Given the description of an element on the screen output the (x, y) to click on. 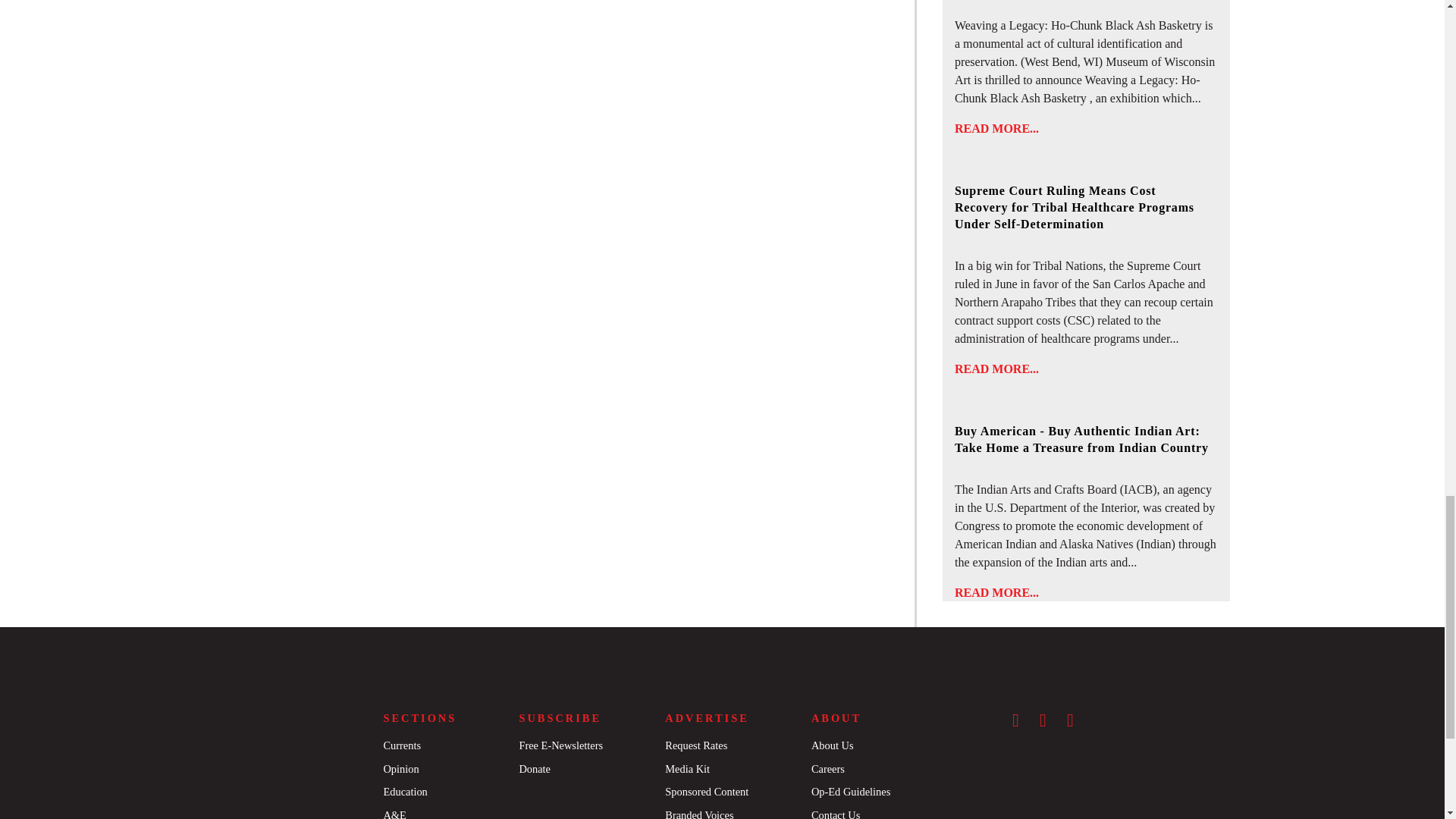
Free E-Newsletters (560, 745)
Currents (401, 745)
Sponsored Content (706, 791)
Request Rates (695, 745)
Education (404, 791)
Opinion (400, 768)
Donate (534, 768)
Media Kit (687, 768)
Branded Voices (699, 814)
